Given the description of an element on the screen output the (x, y) to click on. 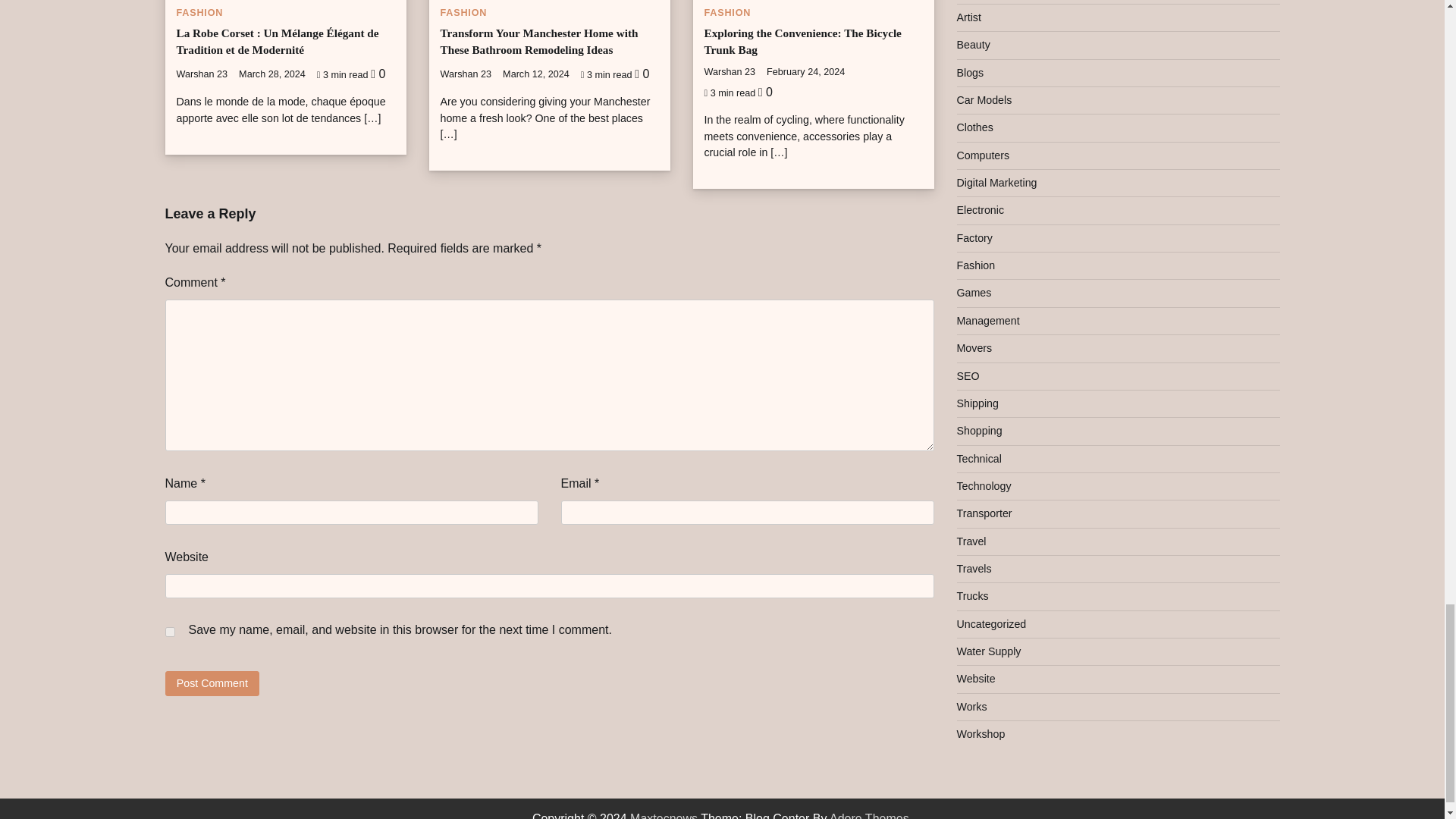
Exploring the Convenience: The Bicycle Trunk Bag (802, 41)
Warshan 23 (465, 73)
FASHION (727, 12)
Warshan 23 (201, 73)
Post Comment (212, 683)
yes (169, 632)
Post Comment (212, 683)
FASHION (462, 12)
FASHION (199, 12)
Warshan 23 (729, 71)
